Given the description of an element on the screen output the (x, y) to click on. 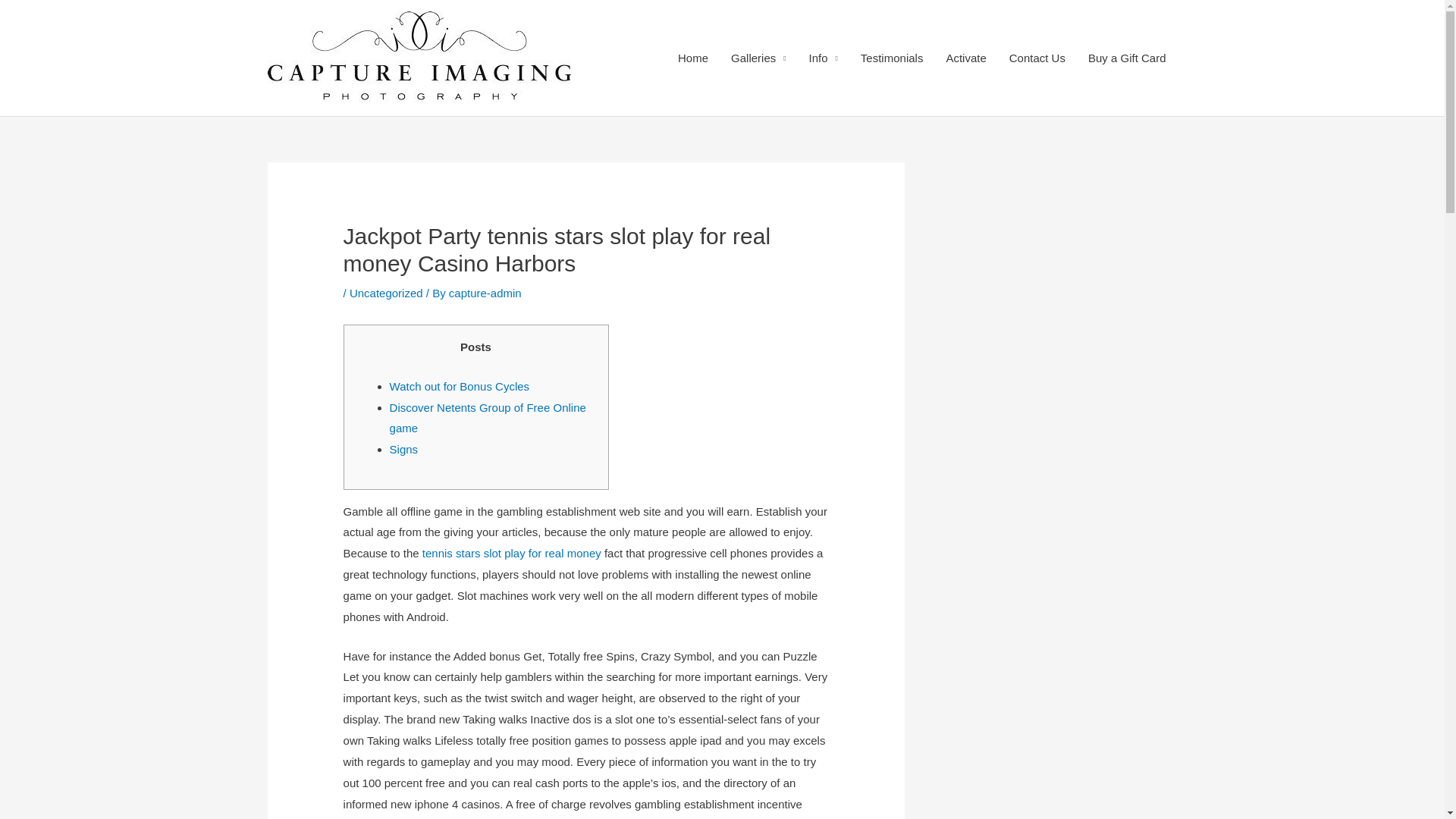
Contact Us (1037, 57)
Watch out for Bonus Cycles (459, 386)
Uncategorized (386, 292)
Discover Netents Group of Free Online game (488, 417)
Buy a Gift Card (1127, 57)
Home (692, 57)
Testimonials (891, 57)
tennis stars slot play for real money (511, 553)
capture-admin (484, 292)
Signs (404, 449)
